Given the description of an element on the screen output the (x, y) to click on. 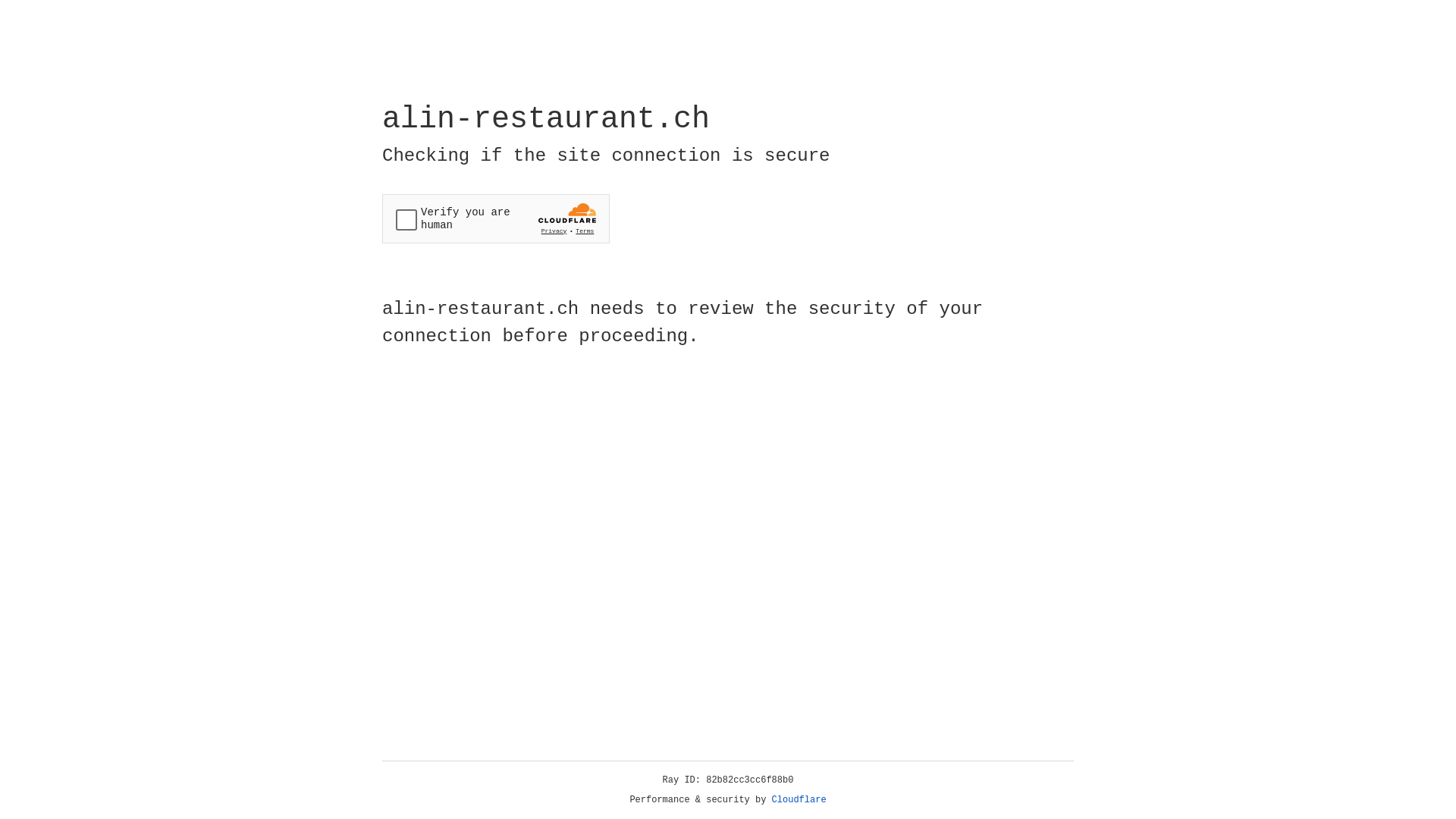
Widget containing a Cloudflare security challenge Element type: hover (495, 218)
Cloudflare Element type: text (798, 799)
